Given the description of an element on the screen output the (x, y) to click on. 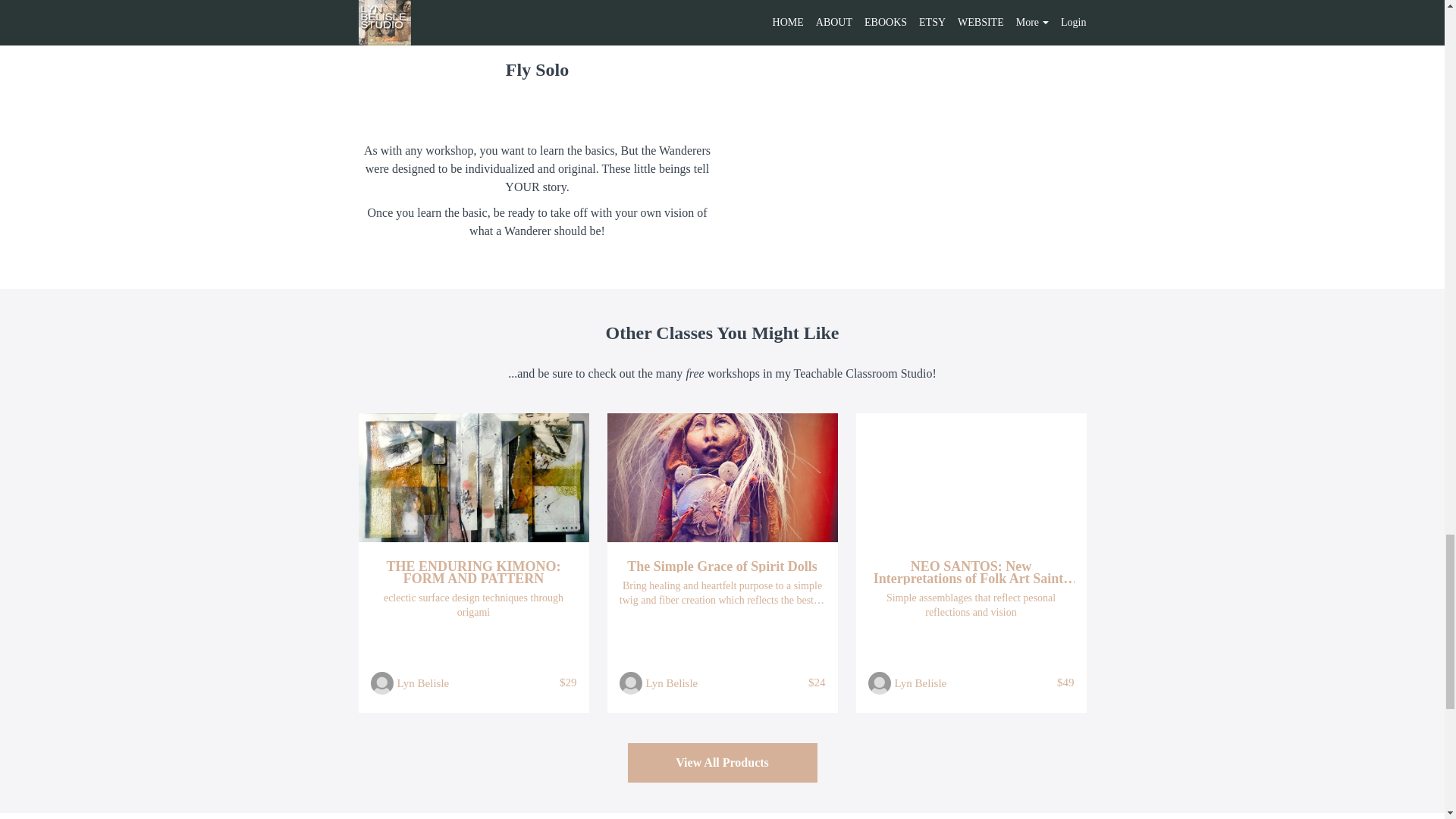
The Simple Grace of Spirit Dolls (721, 566)
Lyn Belisle (921, 682)
Lyn Belisle (672, 682)
THE ENDURING KIMONO: FORM AND PATTERN (472, 572)
Lyn Belisle (423, 682)
eclectic surface design techniques through origami (472, 604)
